Given the description of an element on the screen output the (x, y) to click on. 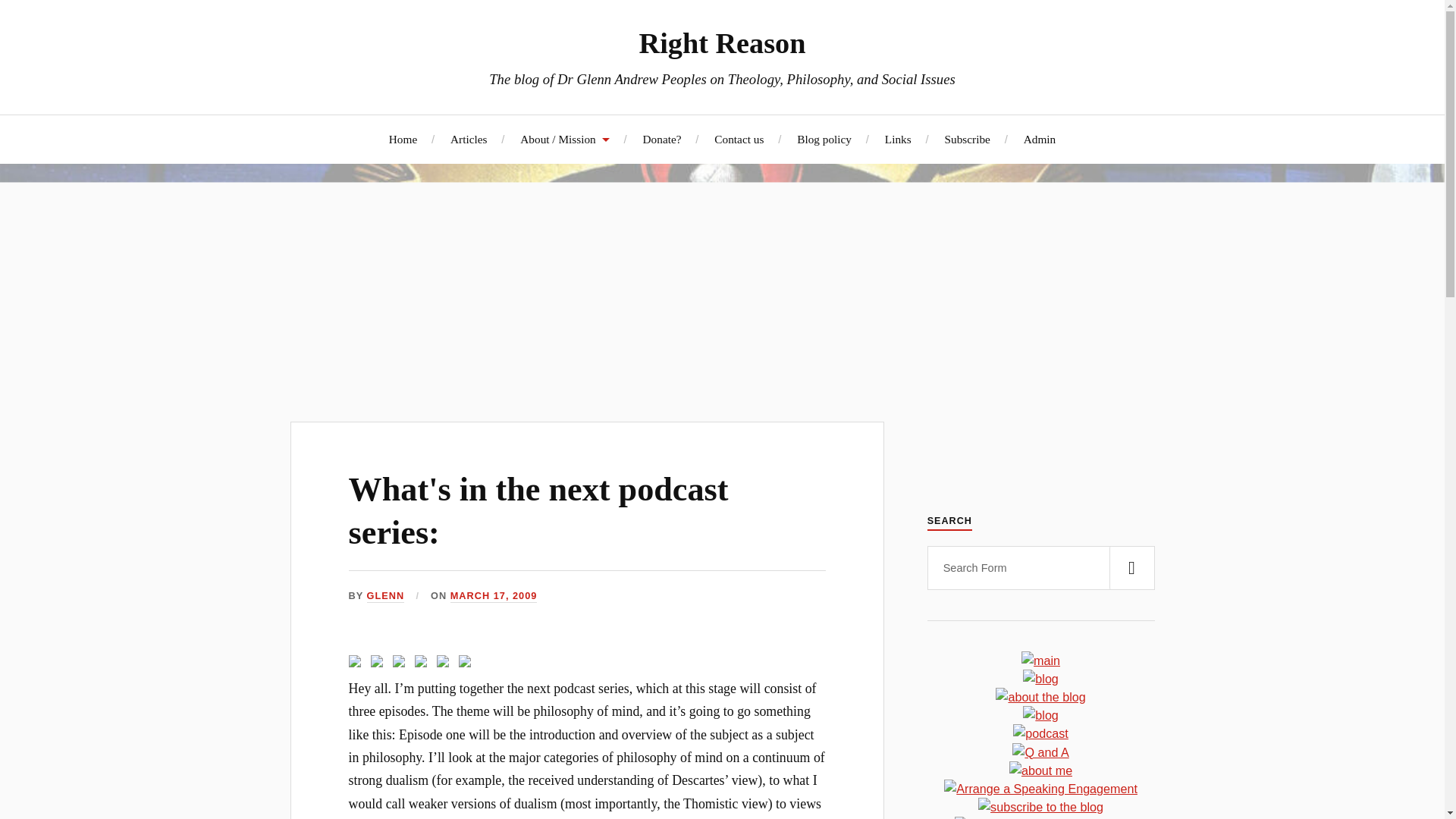
Share on Facebook (355, 661)
Share by email (464, 661)
Posts by Glenn (385, 595)
Blog policy (823, 138)
Share on Linkedin (445, 664)
What's in the next podcast series: (539, 510)
Share on Facebook (357, 664)
Pin it with Pinterest (423, 664)
Share by email (467, 664)
MARCH 17, 2009 (493, 595)
